Given the description of an element on the screen output the (x, y) to click on. 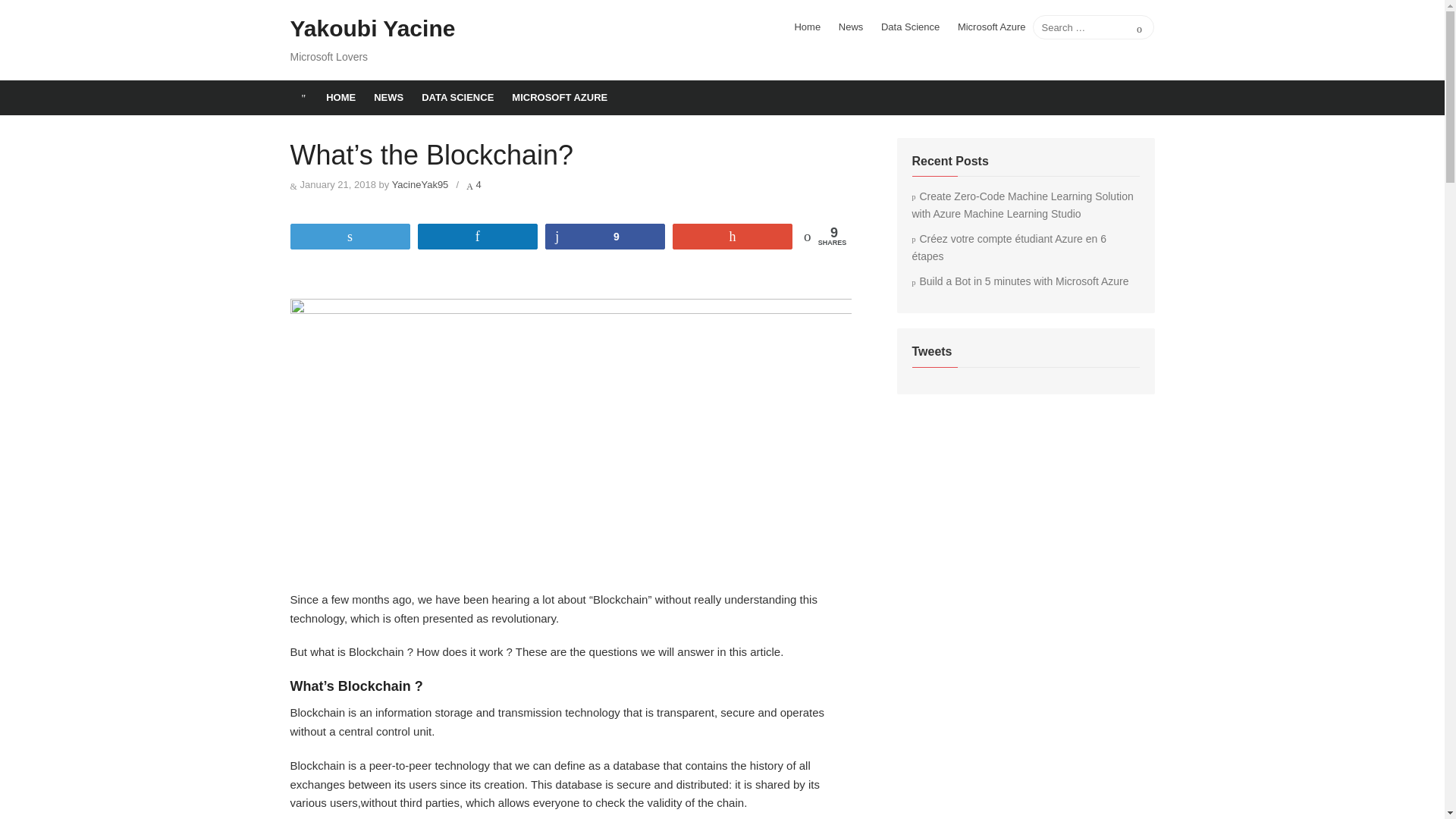
Microsoft Azure (991, 27)
NEWS (388, 97)
9 (604, 235)
HOME (341, 97)
DATA SCIENCE (457, 97)
Skip to content (37, 5)
Home (807, 27)
Yakoubi Yacine (371, 28)
News (850, 27)
Data Science (910, 27)
